Given the description of an element on the screen output the (x, y) to click on. 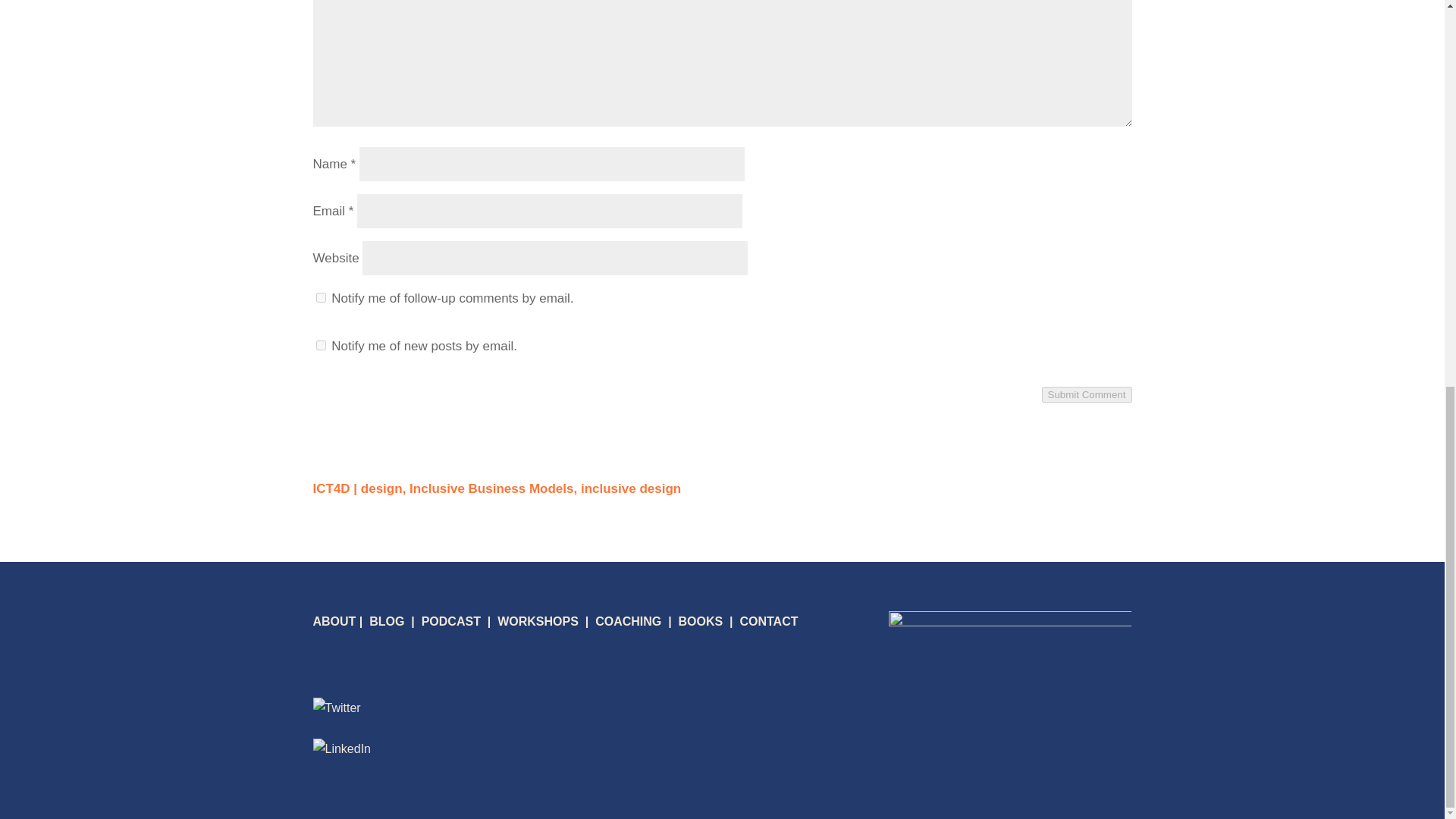
design (383, 488)
LinkedIn (342, 748)
subscribe (319, 345)
ABOUT (334, 621)
Submit Comment (1087, 394)
BLOG (386, 621)
WORKSHOPS (537, 621)
BOOKS (700, 621)
Inclusive Business Models (492, 488)
CONTACT (768, 621)
inclusive design (630, 488)
subscribe (319, 297)
PODCAST (451, 621)
Twitter (336, 707)
ICT4D (331, 488)
